Given the description of an element on the screen output the (x, y) to click on. 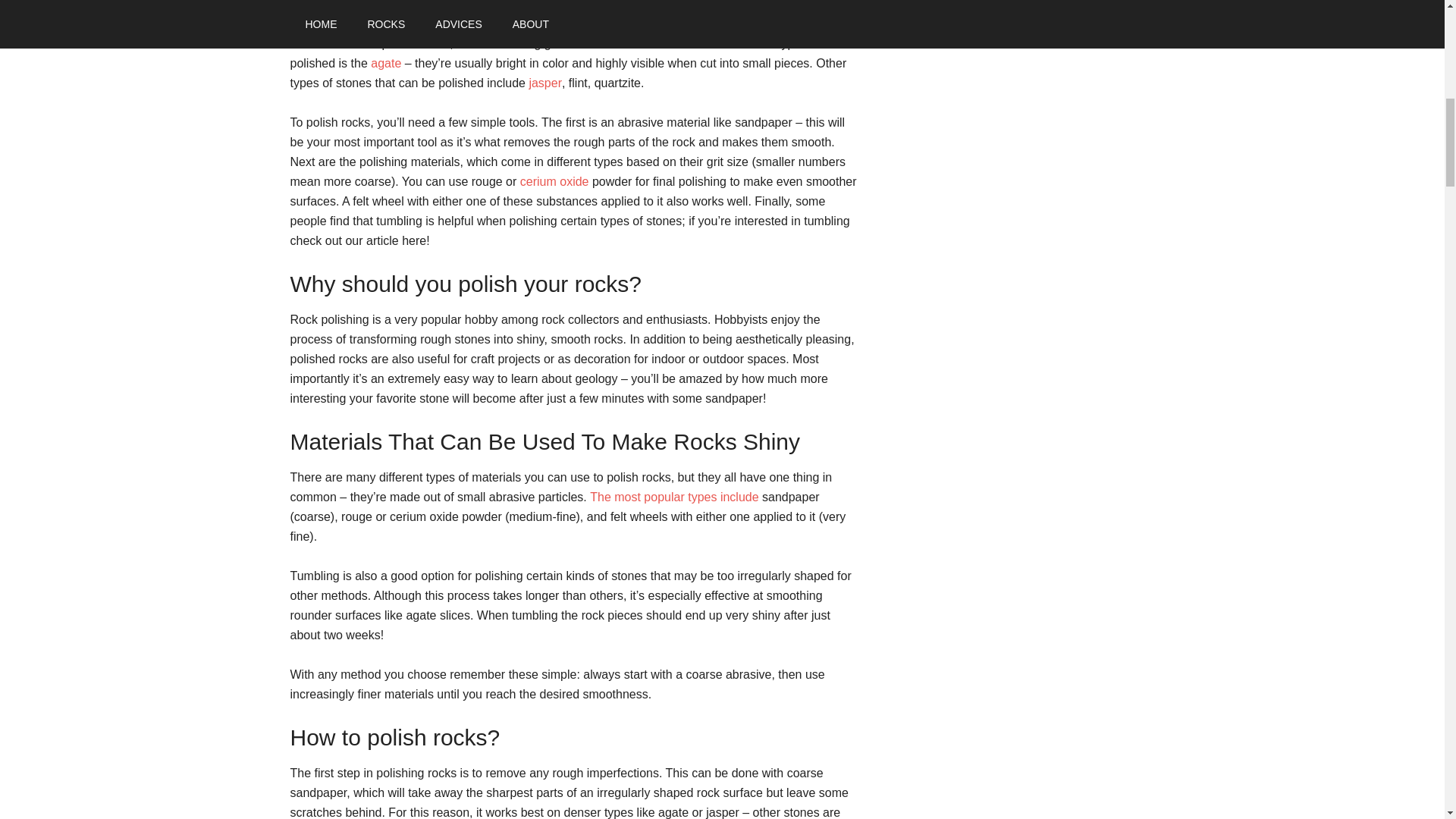
cerium oxide (554, 181)
agate (386, 62)
The most popular types include (673, 496)
jasper (545, 82)
